Given the description of an element on the screen output the (x, y) to click on. 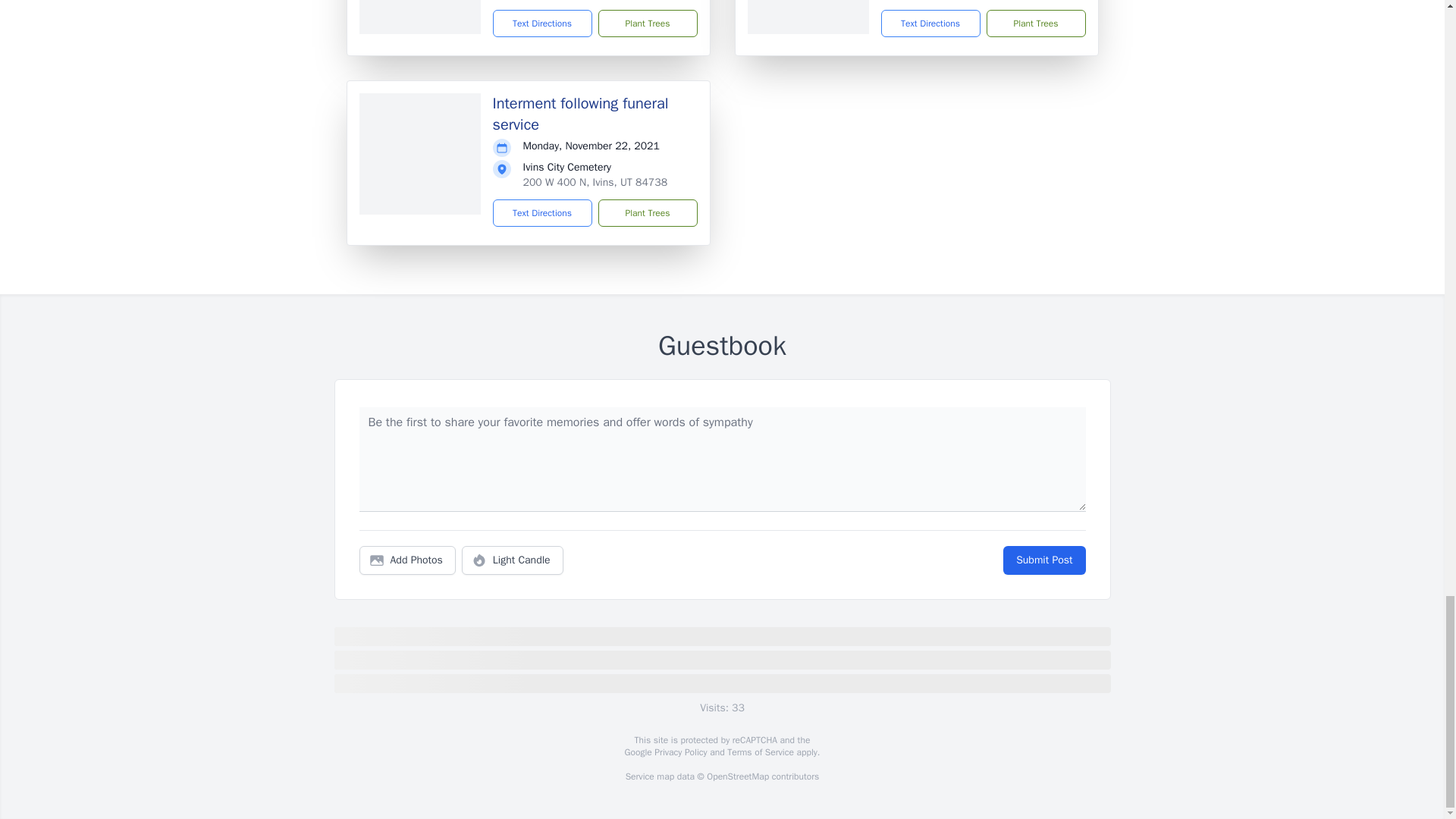
Text Directions (542, 212)
Privacy Policy (679, 752)
Add Photos (407, 560)
Plant Trees (646, 212)
Text Directions (542, 22)
Plant Trees (646, 22)
Light Candle (512, 560)
Text Directions (929, 22)
Submit Post (1043, 560)
Plant Trees (1034, 22)
200 W 400 N, Ivins, UT 84738 (595, 182)
